Given the description of an element on the screen output the (x, y) to click on. 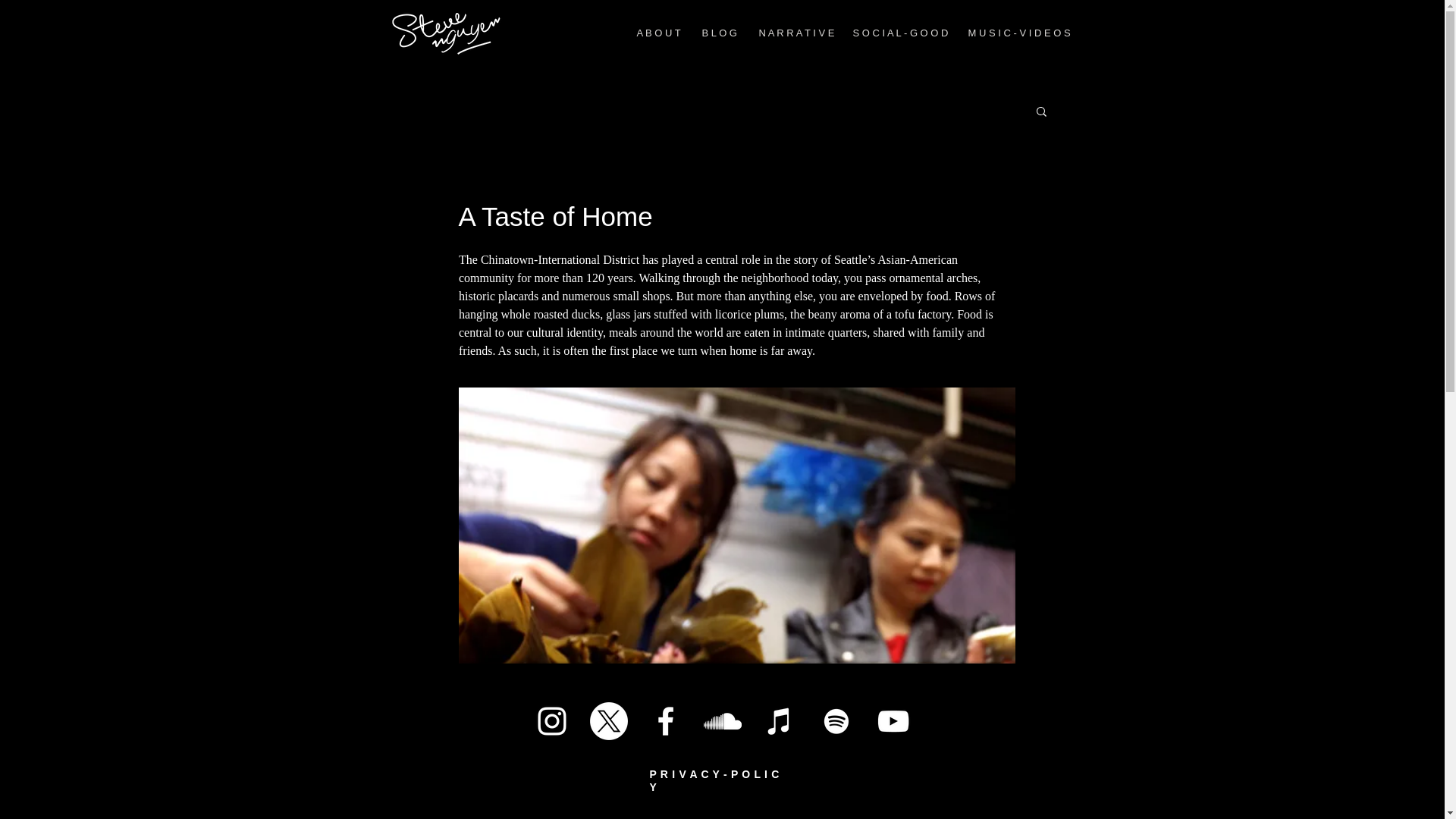
M U S I C - V I D E O S (1015, 33)
S O C I A L - G O O D (898, 33)
A B O U T (657, 33)
N A R R A T I V E (794, 33)
B L O G (718, 33)
P R I V A C Y - P O L I C Y (713, 780)
